Given the description of an element on the screen output the (x, y) to click on. 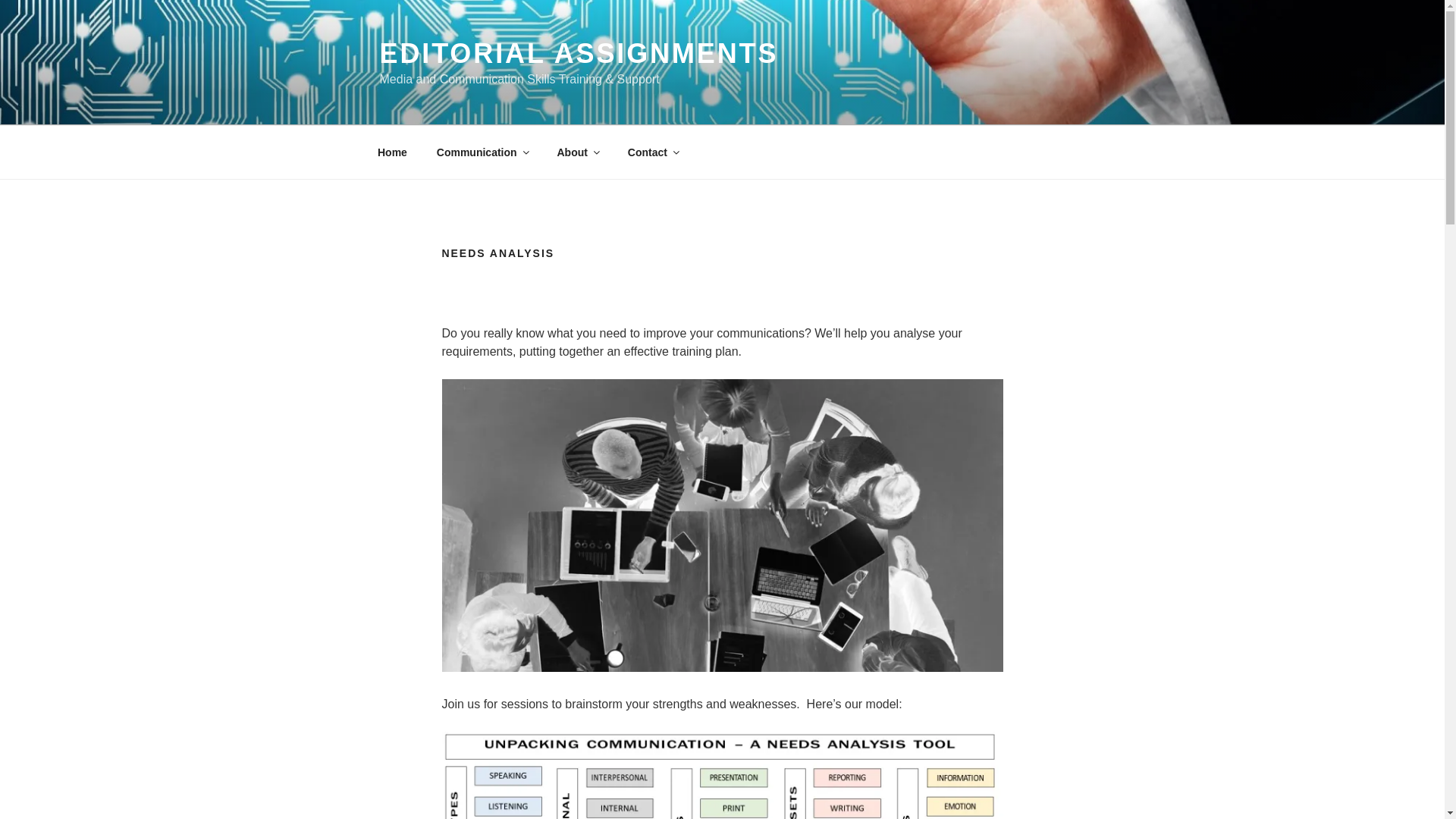
EDITORIAL ASSIGNMENTS (577, 52)
Contact (652, 151)
Home (392, 151)
Communication (481, 151)
About (577, 151)
